Given the description of an element on the screen output the (x, y) to click on. 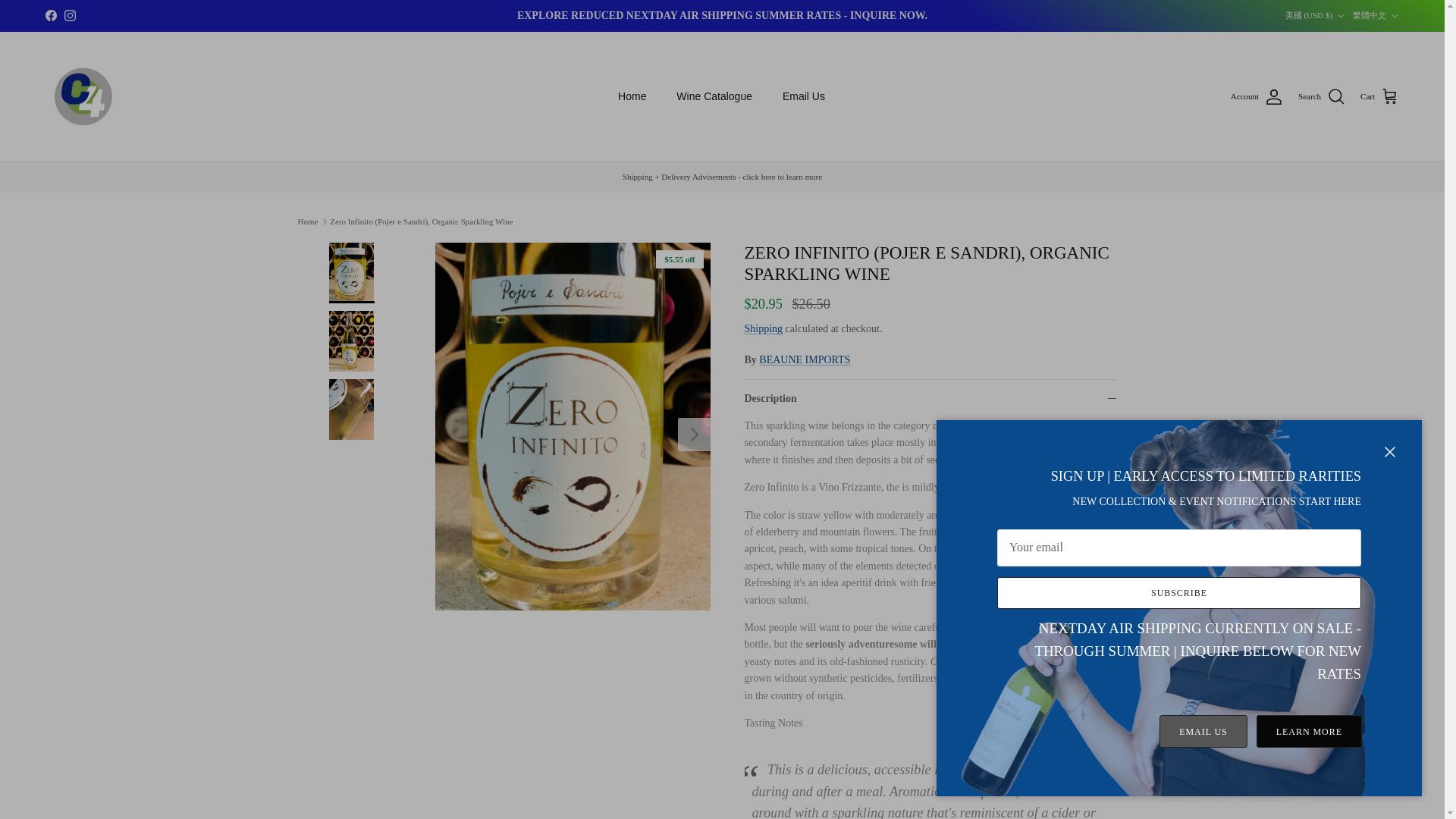
Wine Catalogue (713, 96)
Facebook (50, 15)
Instagram (69, 15)
Home (631, 96)
Cart (1379, 96)
Email Us (803, 96)
Account (1256, 96)
Search (1321, 96)
